Given the description of an element on the screen output the (x, y) to click on. 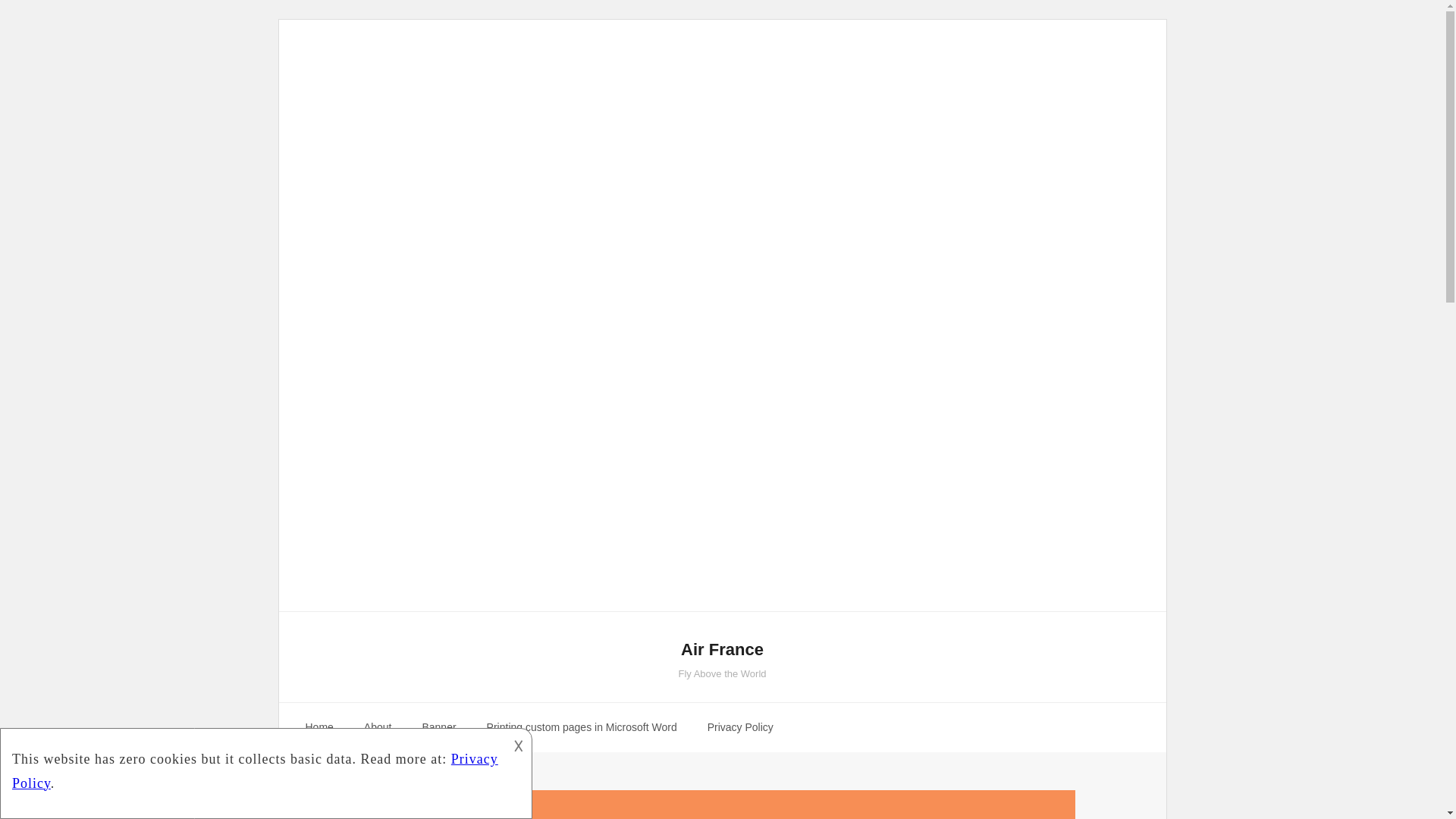
About (378, 727)
Printing custom pages in Microsoft Word (582, 727)
description (264, 770)
Air France (721, 649)
Fly Above the World (721, 673)
Banner (438, 727)
Home (318, 727)
Privacy Policy (741, 727)
